Given the description of an element on the screen output the (x, y) to click on. 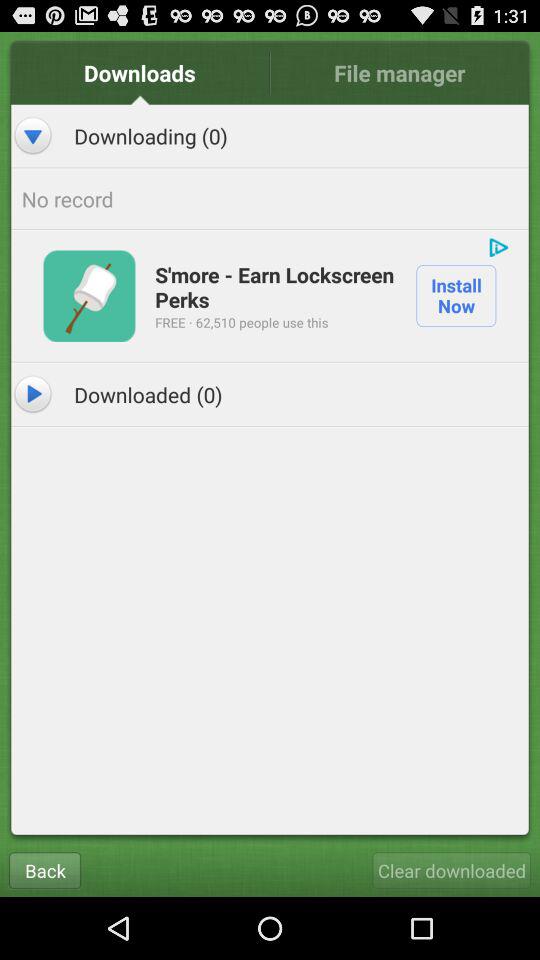
tap icon above downloaded (0) item (89, 295)
